Given the description of an element on the screen output the (x, y) to click on. 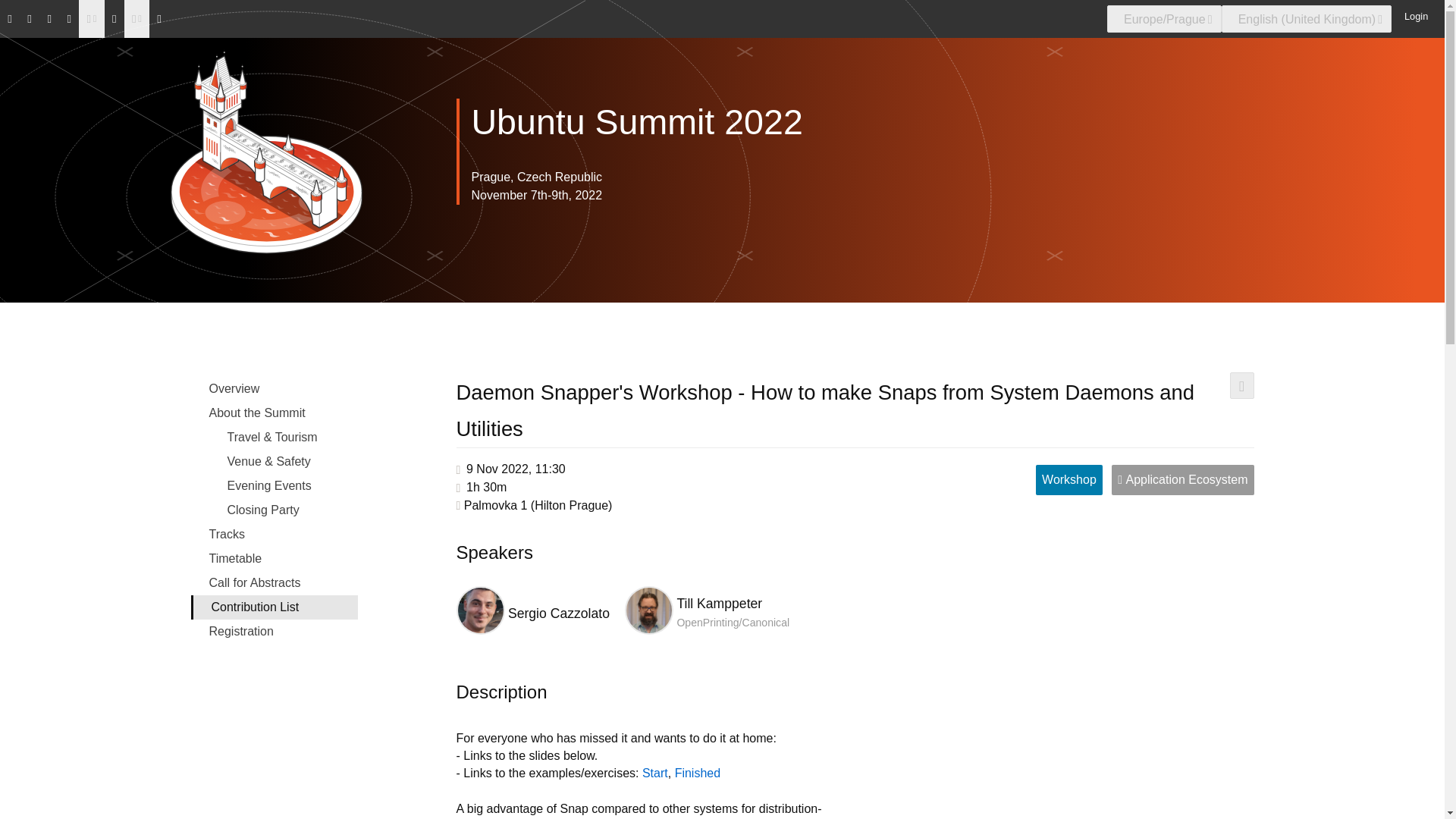
Timetable (274, 558)
Duration (485, 486)
Overview (274, 388)
Evening Events (274, 485)
Login (1412, 15)
Closing Party (274, 509)
About the Summit (274, 413)
Tracks (274, 534)
